Given the description of an element on the screen output the (x, y) to click on. 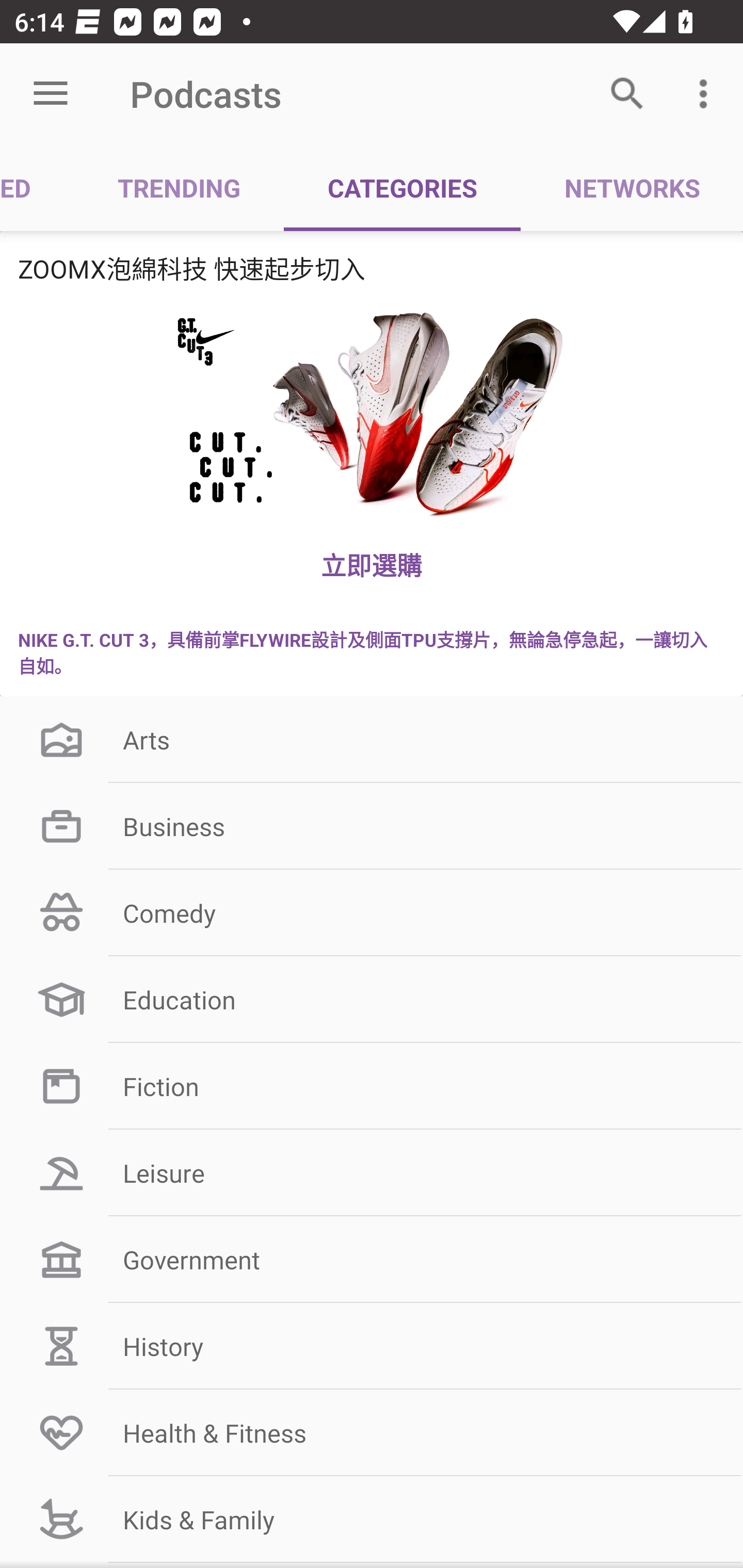
Open menu (50, 93)
Search (626, 93)
More options (706, 93)
TRENDING (178, 187)
CATEGORIES (401, 187)
NETWORKS (631, 187)
ZOOMX泡綿科技 快速起步切入 (371, 267)
立即選購 (371, 564)
Arts (371, 739)
Business (371, 826)
Comedy (371, 913)
Education (371, 999)
Fiction (371, 1085)
Leisure (371, 1172)
Government (371, 1259)
History (371, 1346)
Health & Fitness (371, 1432)
Kids & Family (371, 1519)
